Given the description of an element on the screen output the (x, y) to click on. 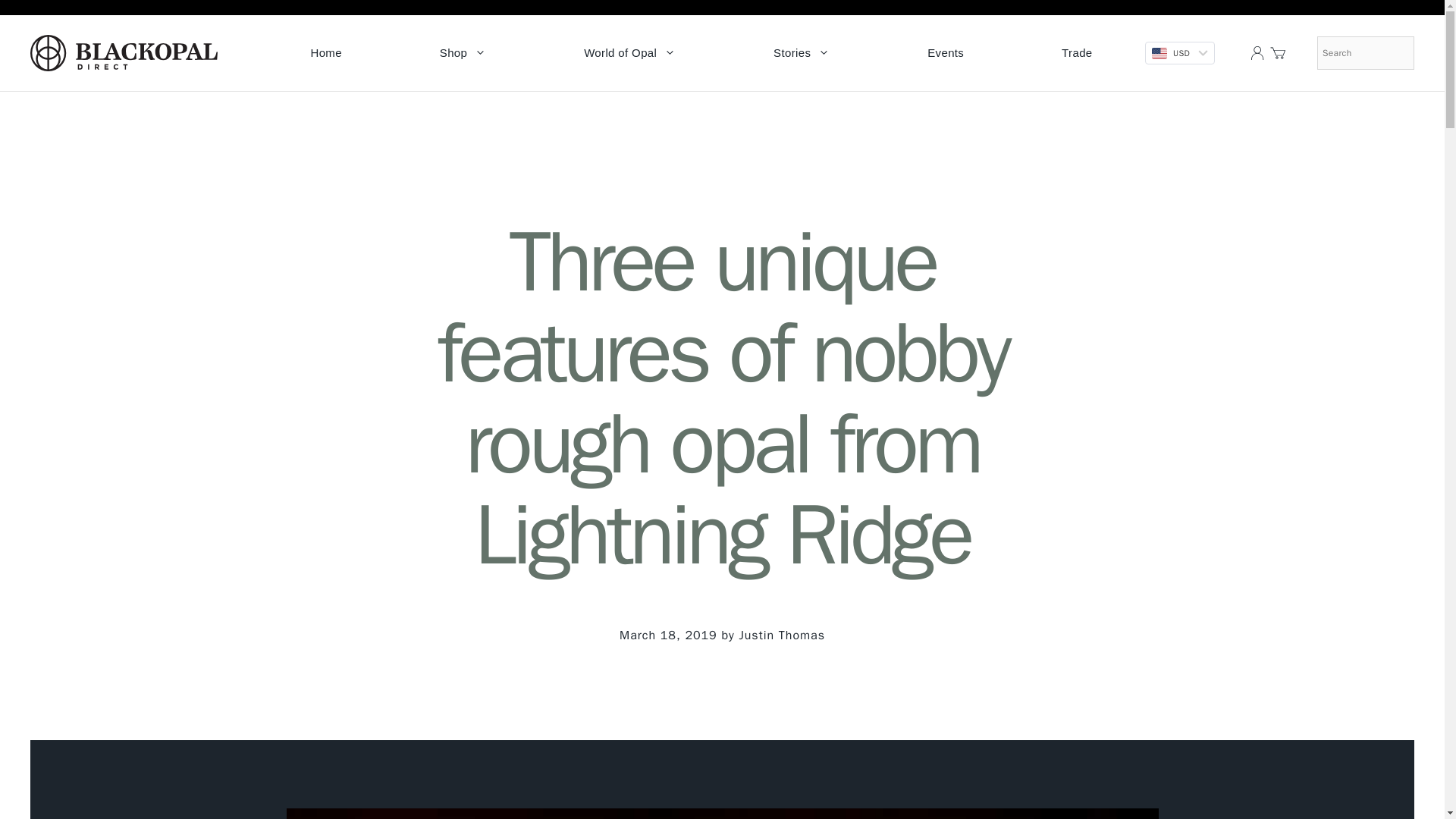
Home (325, 53)
Shop (462, 53)
View all posts by Justin Thomas (781, 635)
Trade Program (1076, 53)
World of Opal (629, 53)
